Given the description of an element on the screen output the (x, y) to click on. 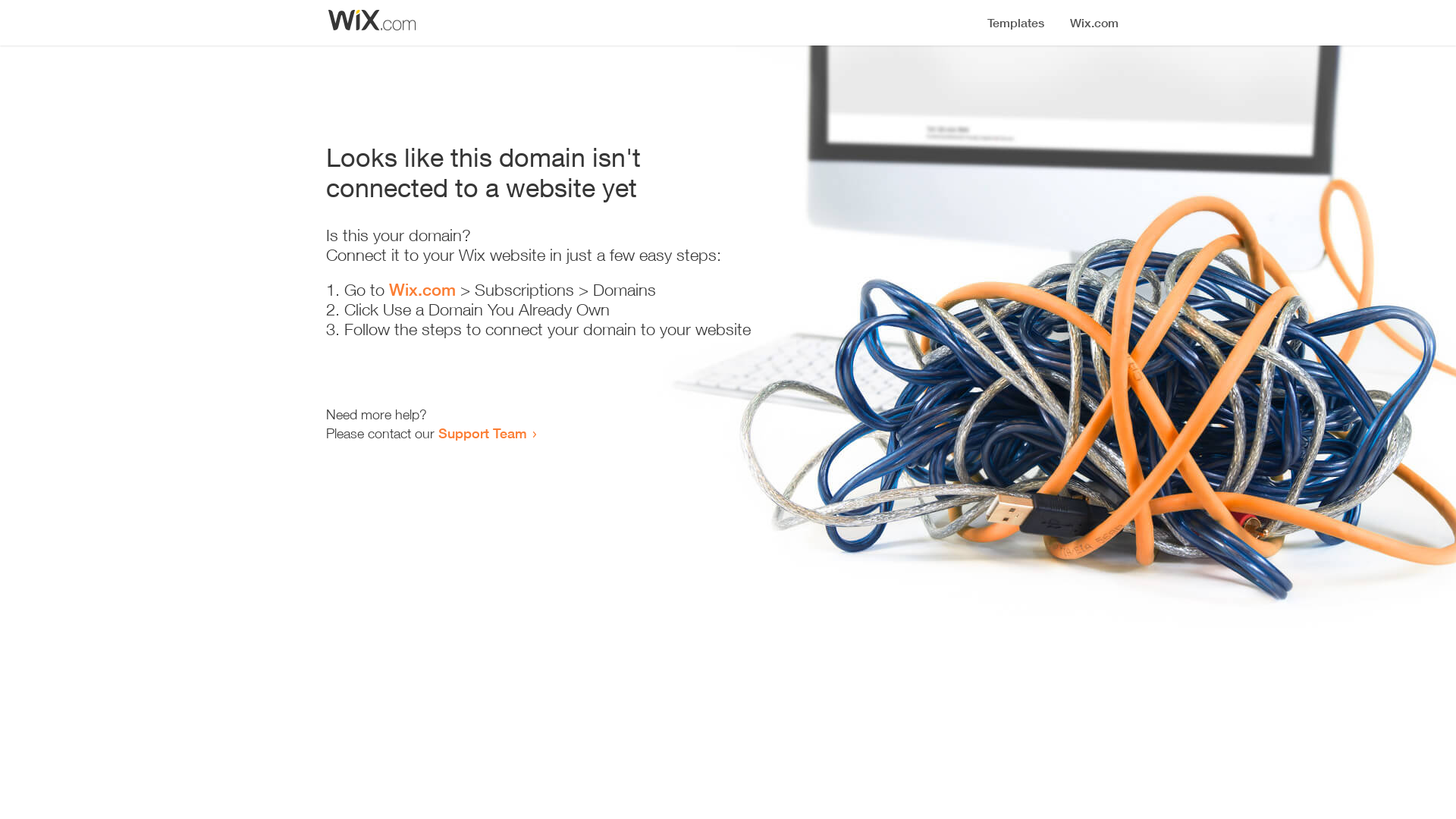
Wix.com Element type: text (422, 289)
Support Team Element type: text (482, 432)
